Given the description of an element on the screen output the (x, y) to click on. 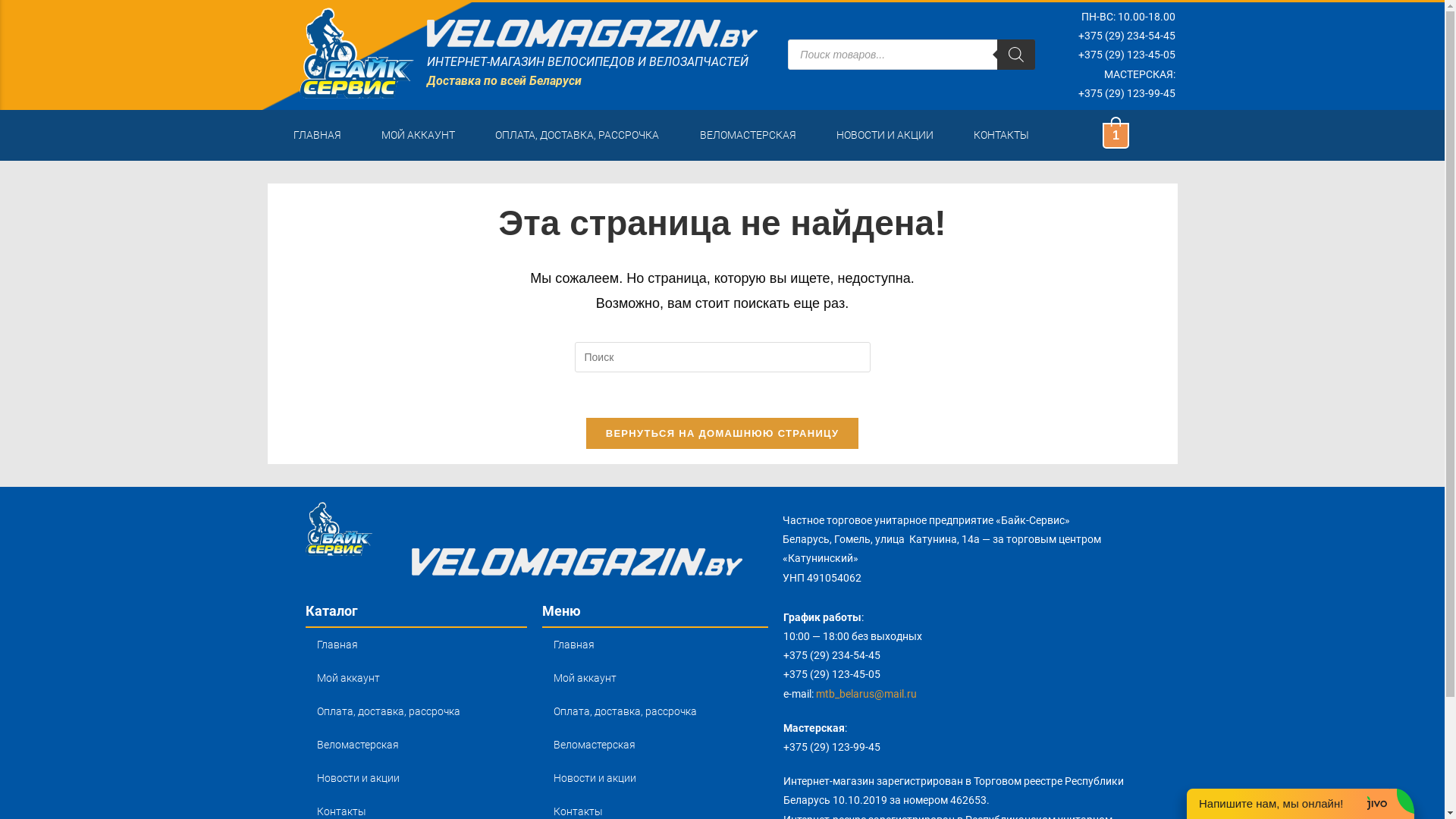
1 Element type: text (1115, 134)
mtb_belarus@mail.ru Element type: text (865, 693)
